Given the description of an element on the screen output the (x, y) to click on. 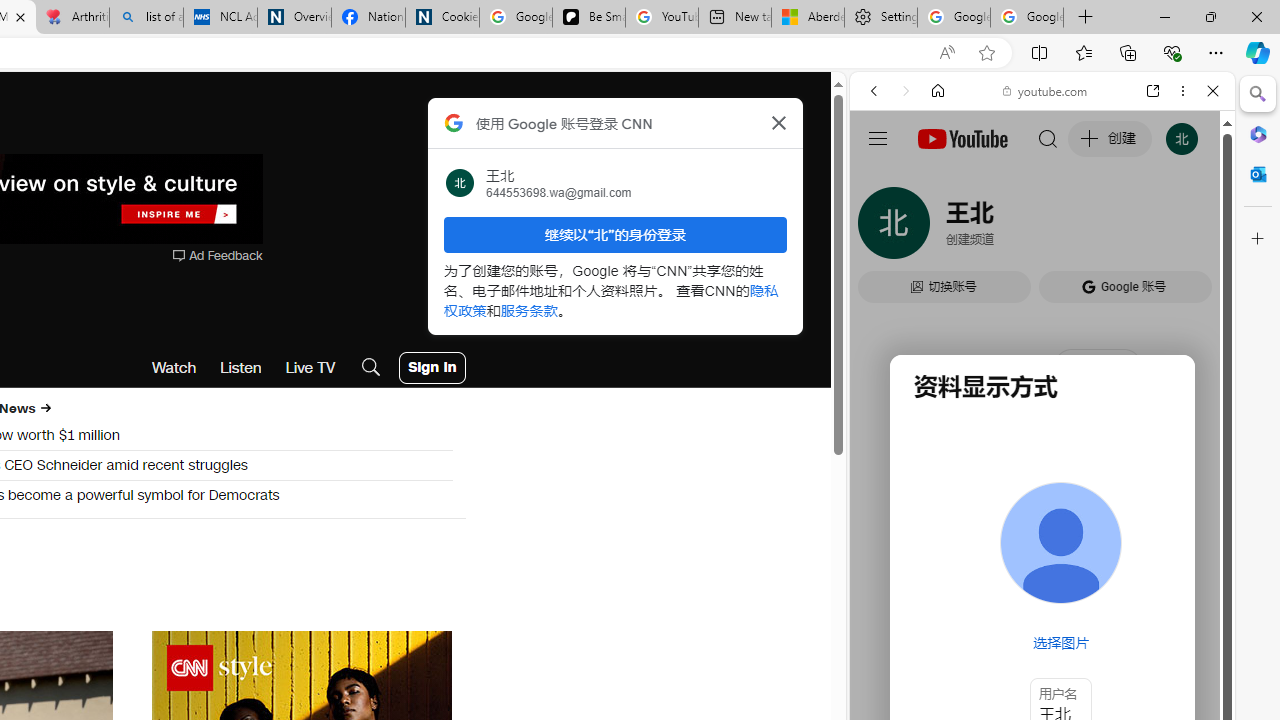
Open link in new tab (1153, 91)
Google (1042, 494)
youtube.com (1046, 90)
Be Smart | creating Science videos | Patreon (588, 17)
Close Customize pane (1258, 239)
Web scope (882, 180)
#you (1042, 445)
